Given the description of an element on the screen output the (x, y) to click on. 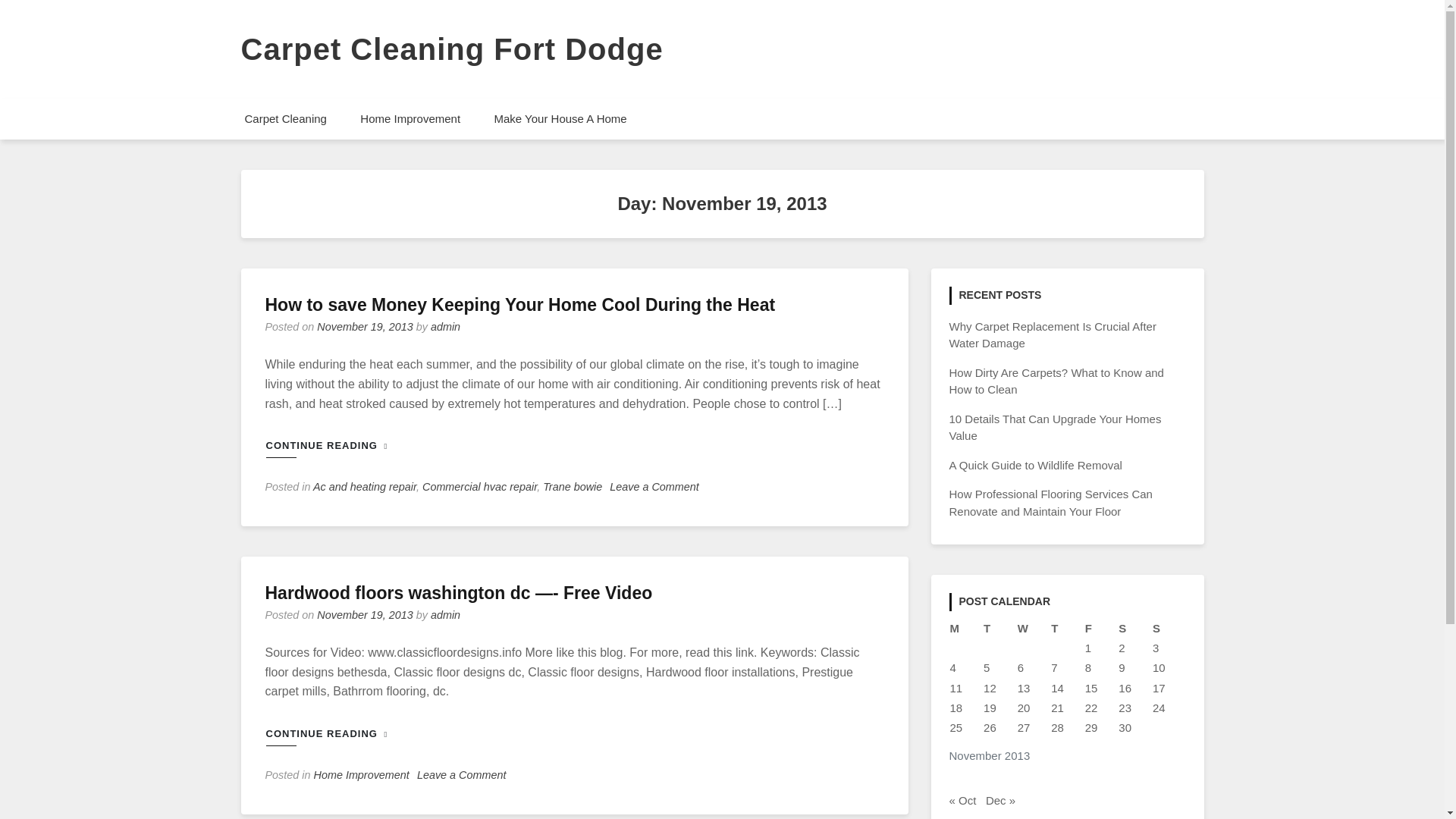
Trane bowie (572, 486)
Home Improvement (410, 118)
CONTINUE READING (334, 445)
27 (1023, 727)
16 (1124, 687)
November 19, 2013 (364, 326)
Ac and heating repair (364, 486)
13 (1023, 687)
